Given the description of an element on the screen output the (x, y) to click on. 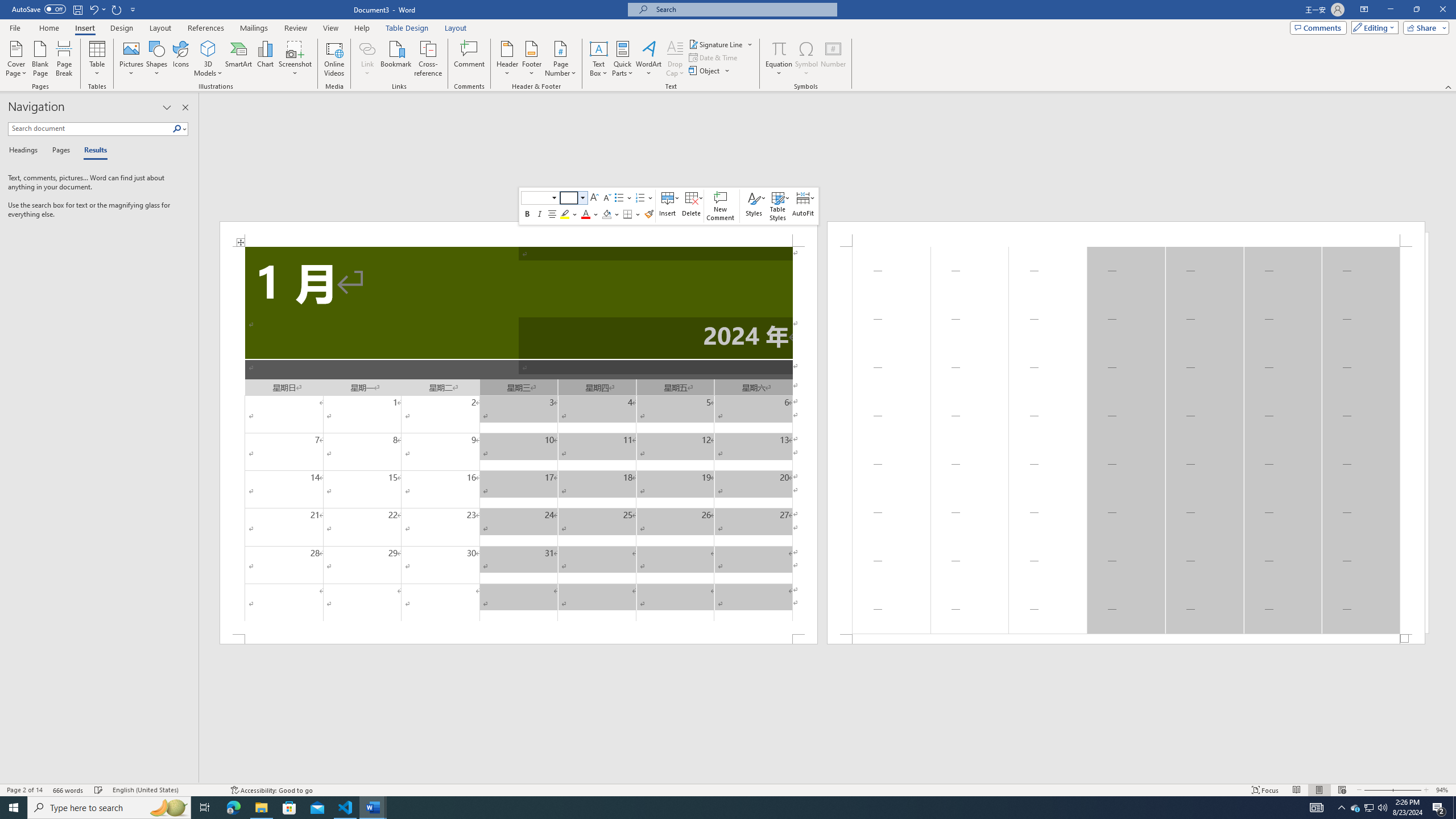
Bookmark... (396, 58)
Equation (778, 58)
Signature Line (721, 44)
Icons (180, 58)
Repeat Doc Close (117, 9)
Quick Parts (622, 58)
